Given the description of an element on the screen output the (x, y) to click on. 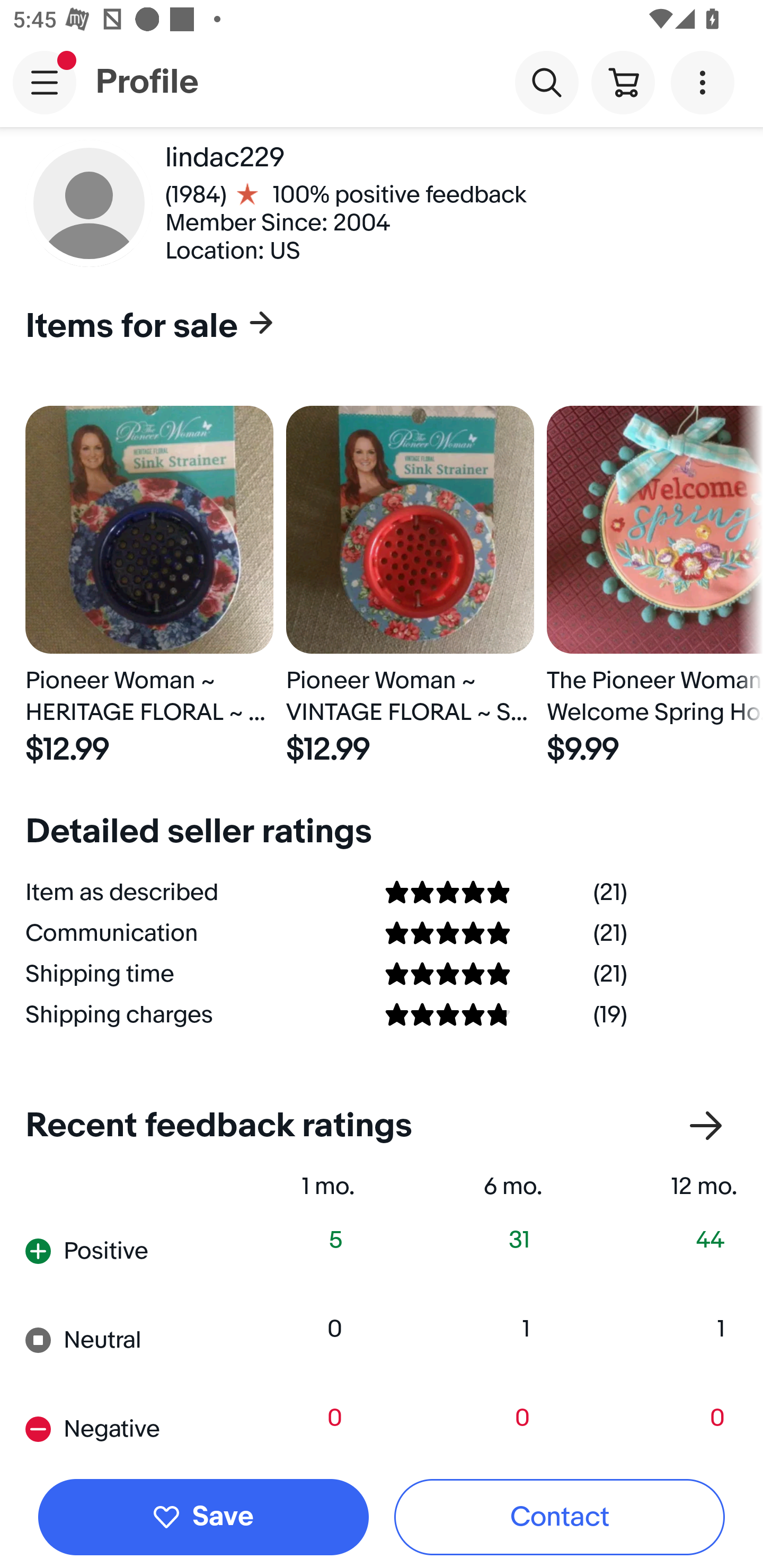
Main navigation, notification is pending, open (44, 82)
Search (546, 81)
Cart button shopping cart (623, 81)
More options (705, 81)
Items for sale Items for sale   (374, 326)
Recent feedback ratings (381, 1126)
Positive Open all positive rating details. (112, 1250)
Neutral Open all neutral rating details. (112, 1339)
Negative Open all negative rating details. (112, 1428)
Save (203, 1516)
Contact (559, 1516)
